Given the description of an element on the screen output the (x, y) to click on. 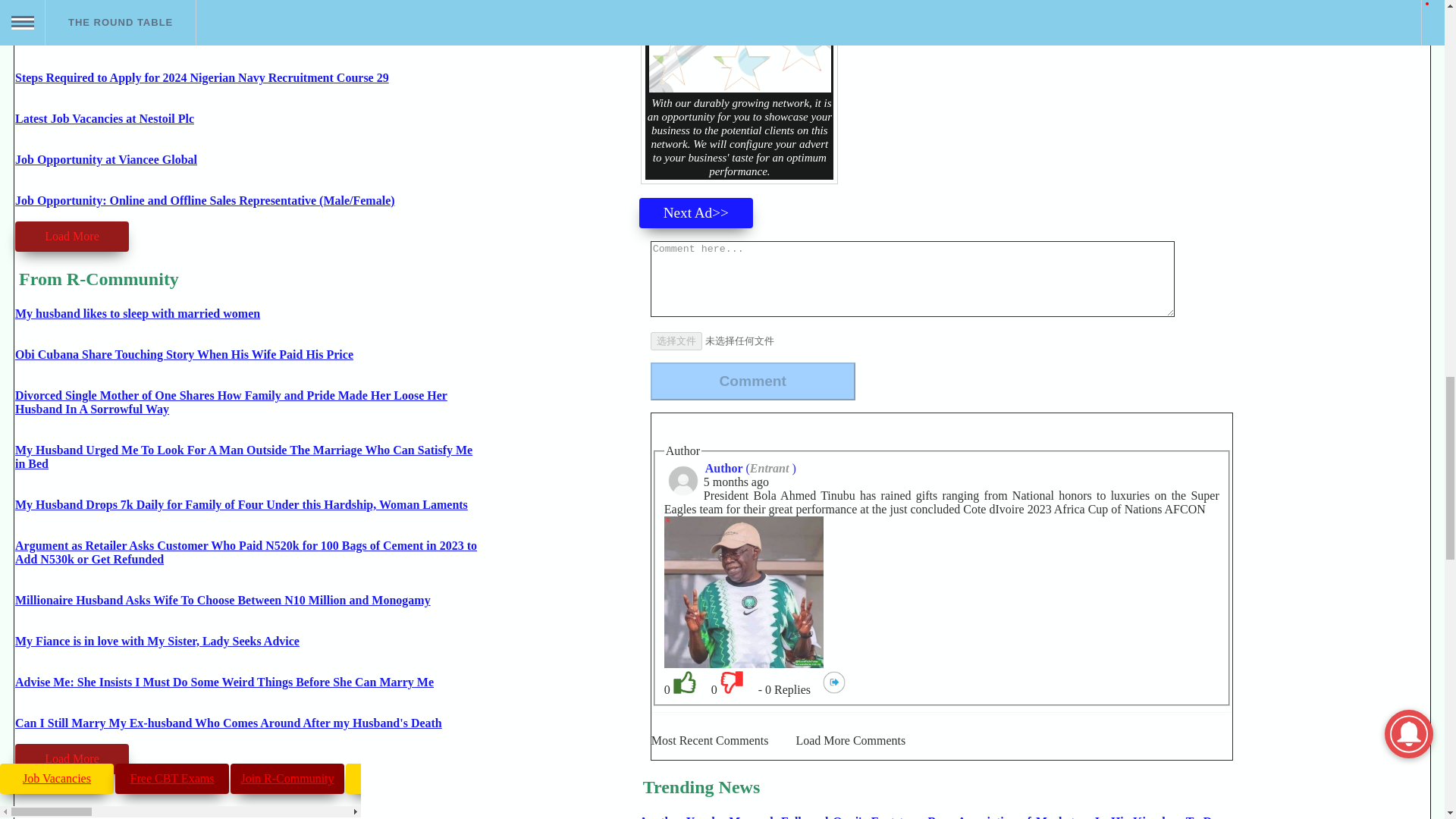
Comment (753, 381)
